Given the description of an element on the screen output the (x, y) to click on. 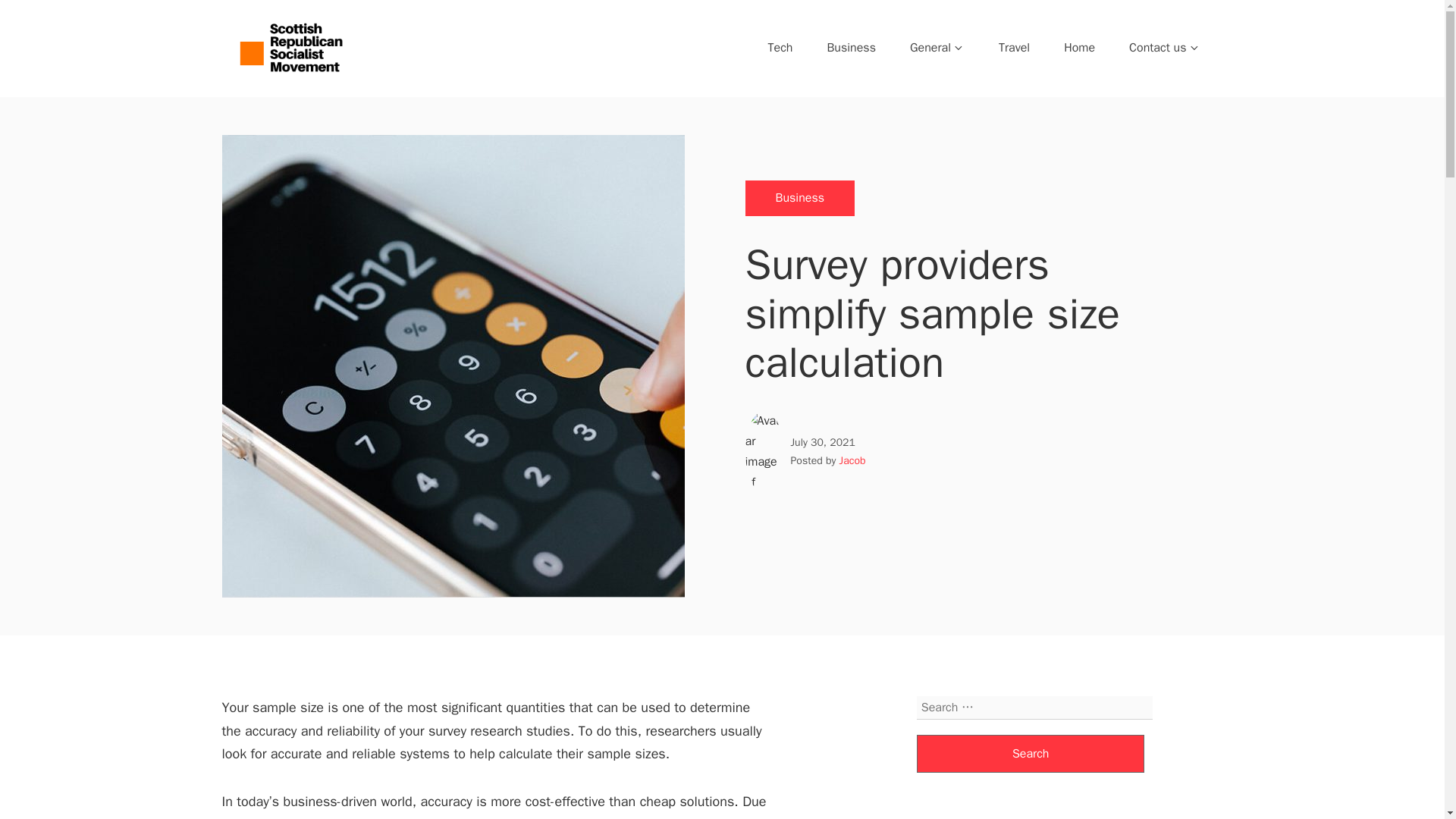
Home (1079, 47)
Contact us (1164, 47)
Jacob (853, 460)
Business (799, 198)
Search (1030, 753)
Search (1030, 753)
July 30, 2021 (822, 441)
Search (1030, 753)
Scottish Republican Socialist Movement (434, 94)
